Given the description of an element on the screen output the (x, y) to click on. 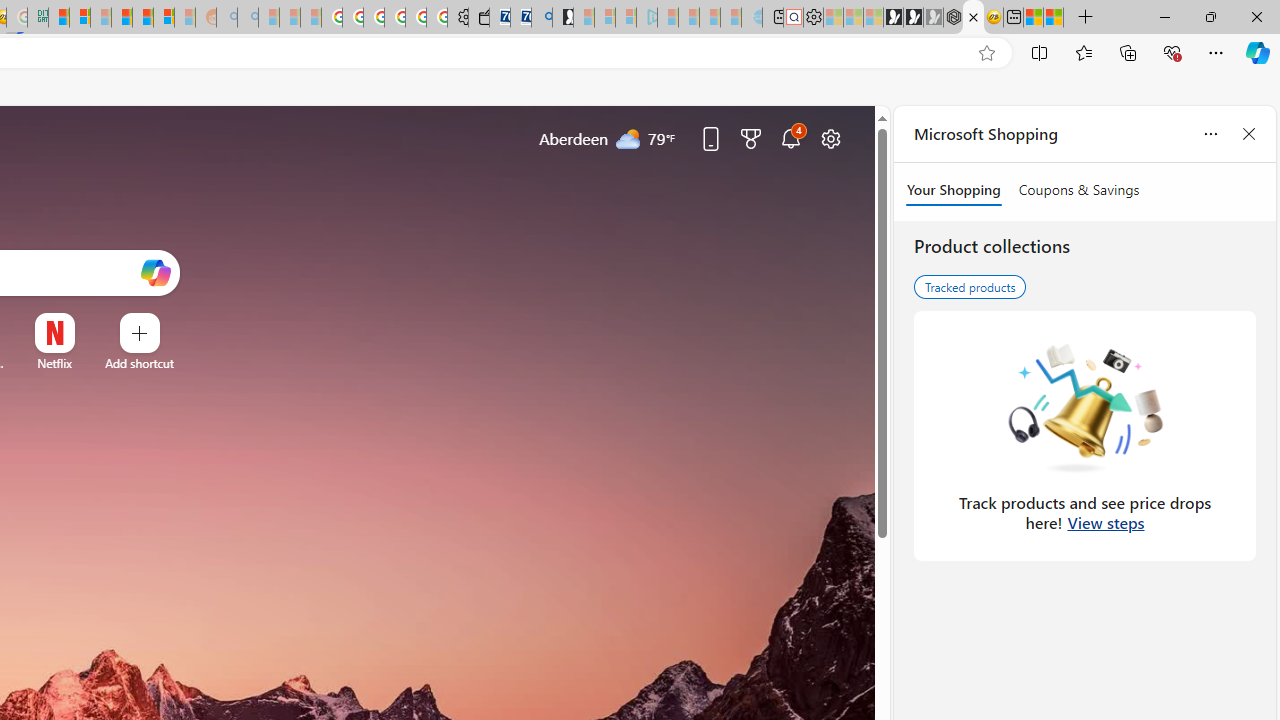
Add a site (139, 363)
Kinda Frugal - MSN (143, 17)
Bing Real Estate - Home sales and rental listings (541, 17)
